Given the description of an element on the screen output the (x, y) to click on. 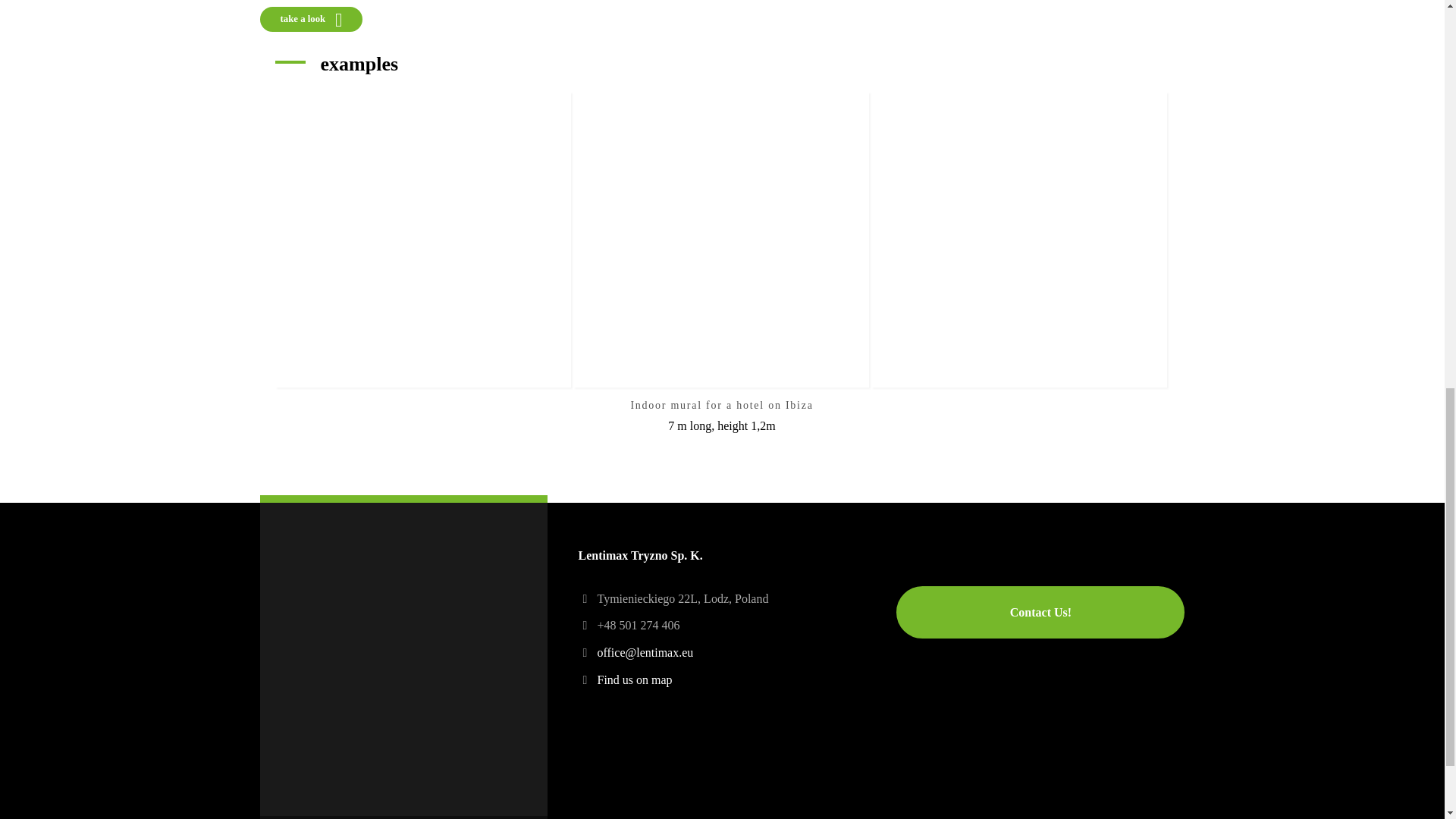
Find us on map (633, 679)
Contact Us! (1040, 612)
take a look (310, 18)
